Given the description of an element on the screen output the (x, y) to click on. 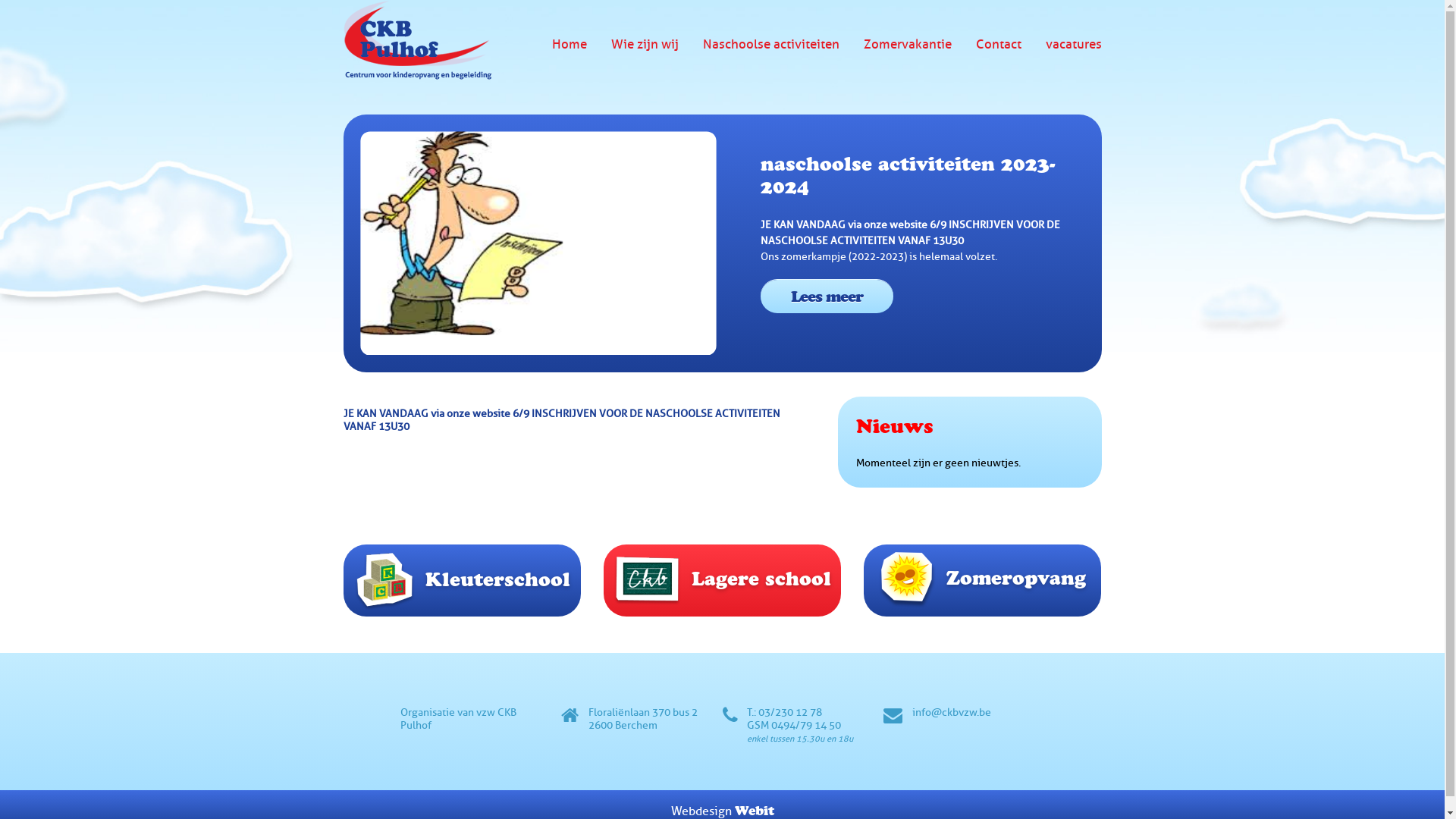
GSM 0494/79 14 50 Element type: text (793, 724)
Lees meer Element type: text (825, 296)
Zomeropvang Element type: text (981, 577)
vacatures Element type: text (1072, 44)
info@ckbvzw.be Element type: text (950, 712)
Zomervakantie Element type: text (906, 44)
Wie zijn wij Element type: text (644, 44)
Kleuterschool Element type: text (462, 578)
T.: 03/230 12 78 Element type: text (784, 712)
Lagere school Element type: text (722, 578)
Home Element type: text (569, 44)
Naschoolse activiteiten Element type: text (770, 44)
Contact Element type: text (997, 44)
